Given the description of an element on the screen output the (x, y) to click on. 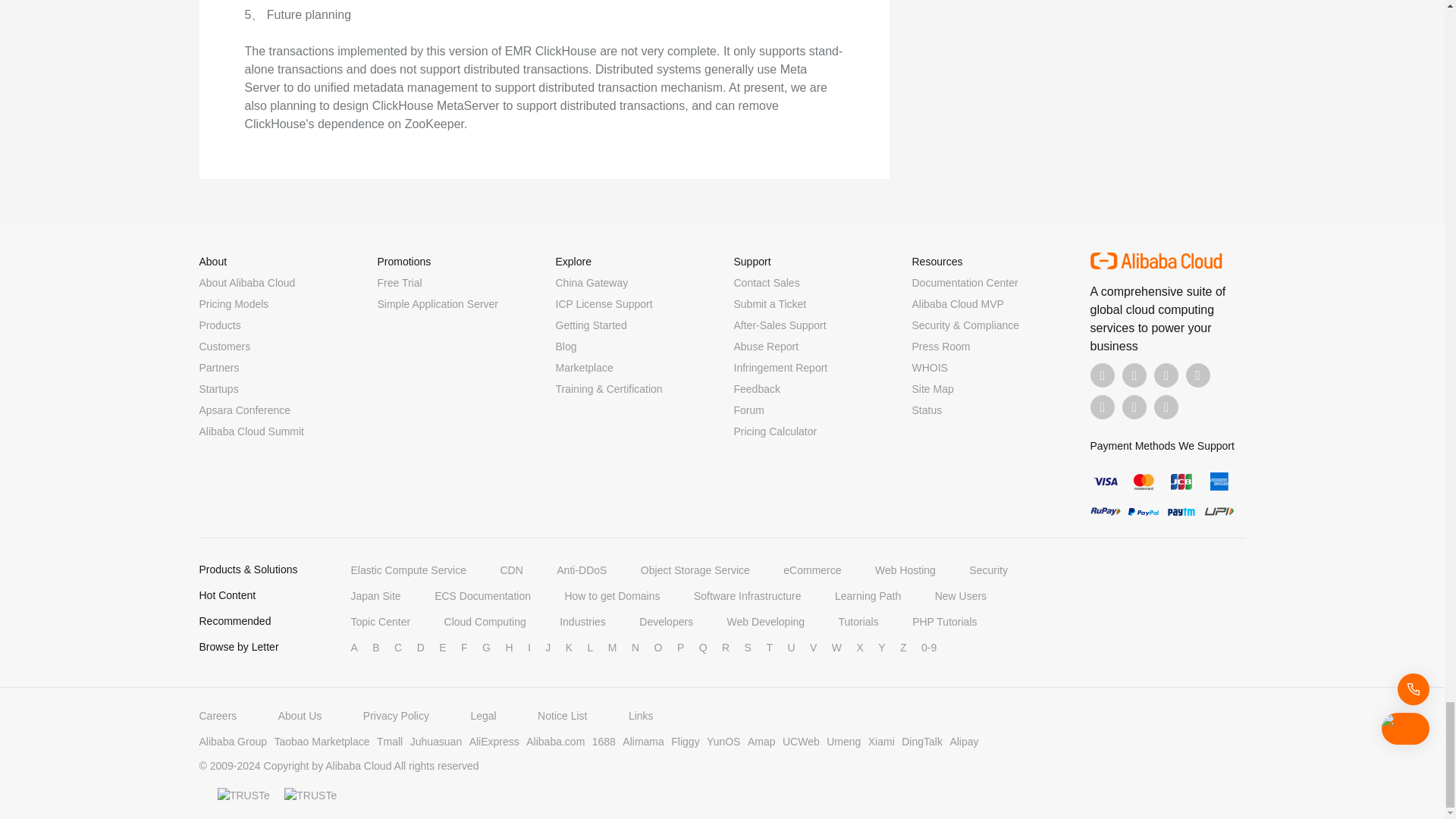
Linkedin (1134, 375)
TikTok (1102, 406)
Call Us Now (1165, 406)
Twitter (1165, 375)
Facebook (1102, 375)
YouTube (1197, 375)
